Given the description of an element on the screen output the (x, y) to click on. 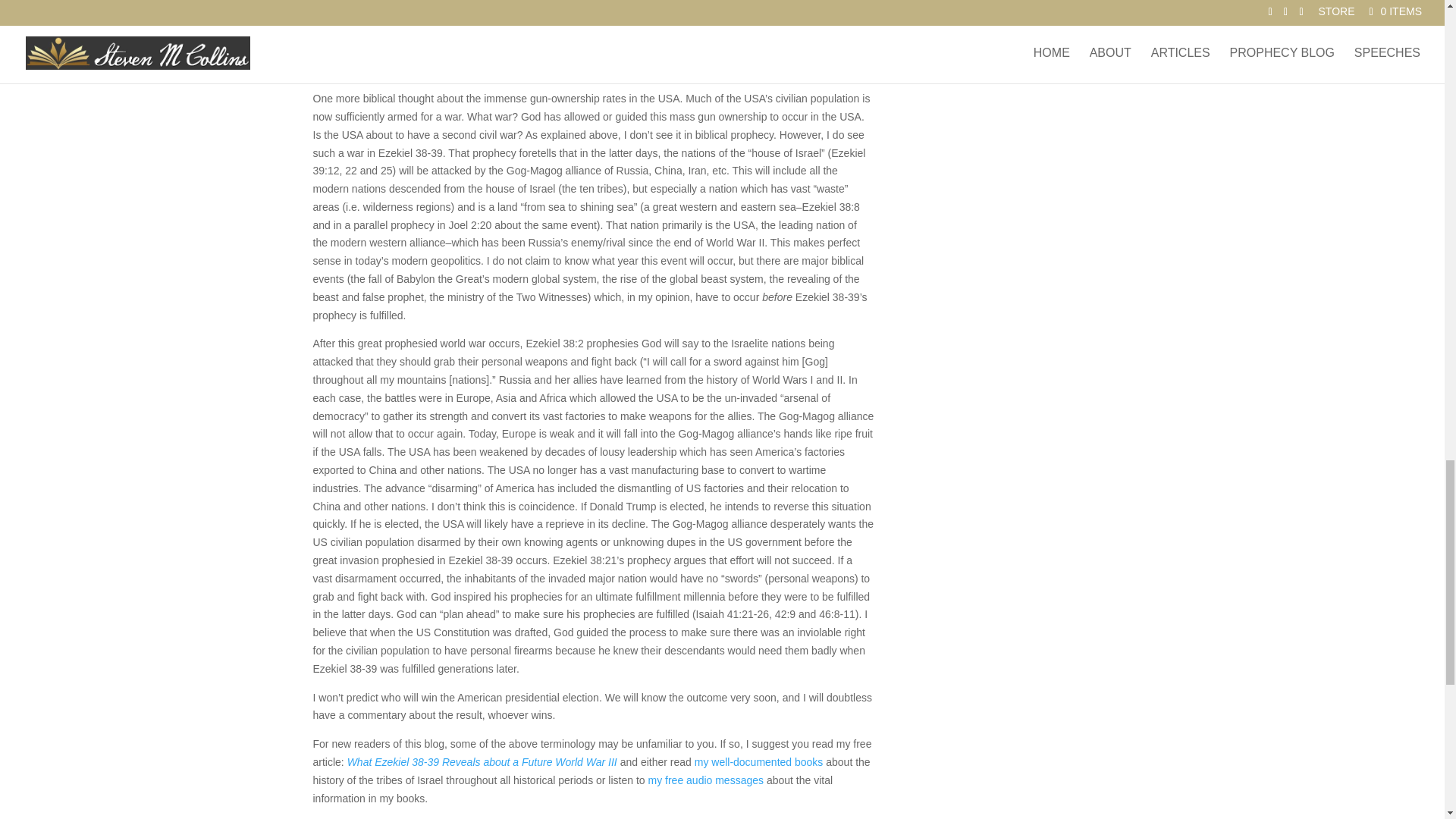
my well-documented books (759, 761)
What Ezekiel 38-39 Reveals about a Future World War III (482, 761)
my free audio messages (704, 779)
